Given the description of an element on the screen output the (x, y) to click on. 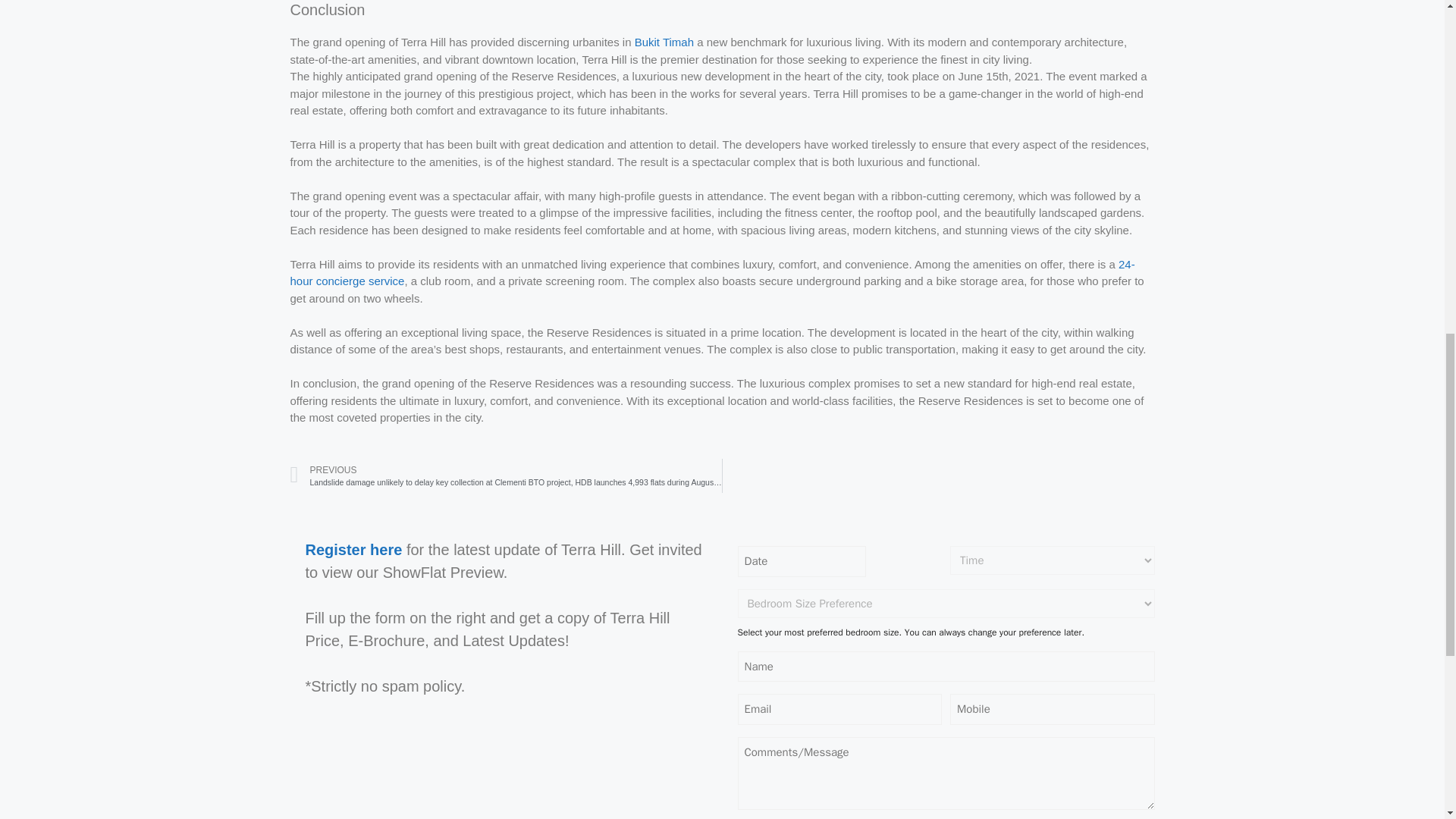
Experience Luxury Living at Terra Hill (711, 272)
